Given the description of an element on the screen output the (x, y) to click on. 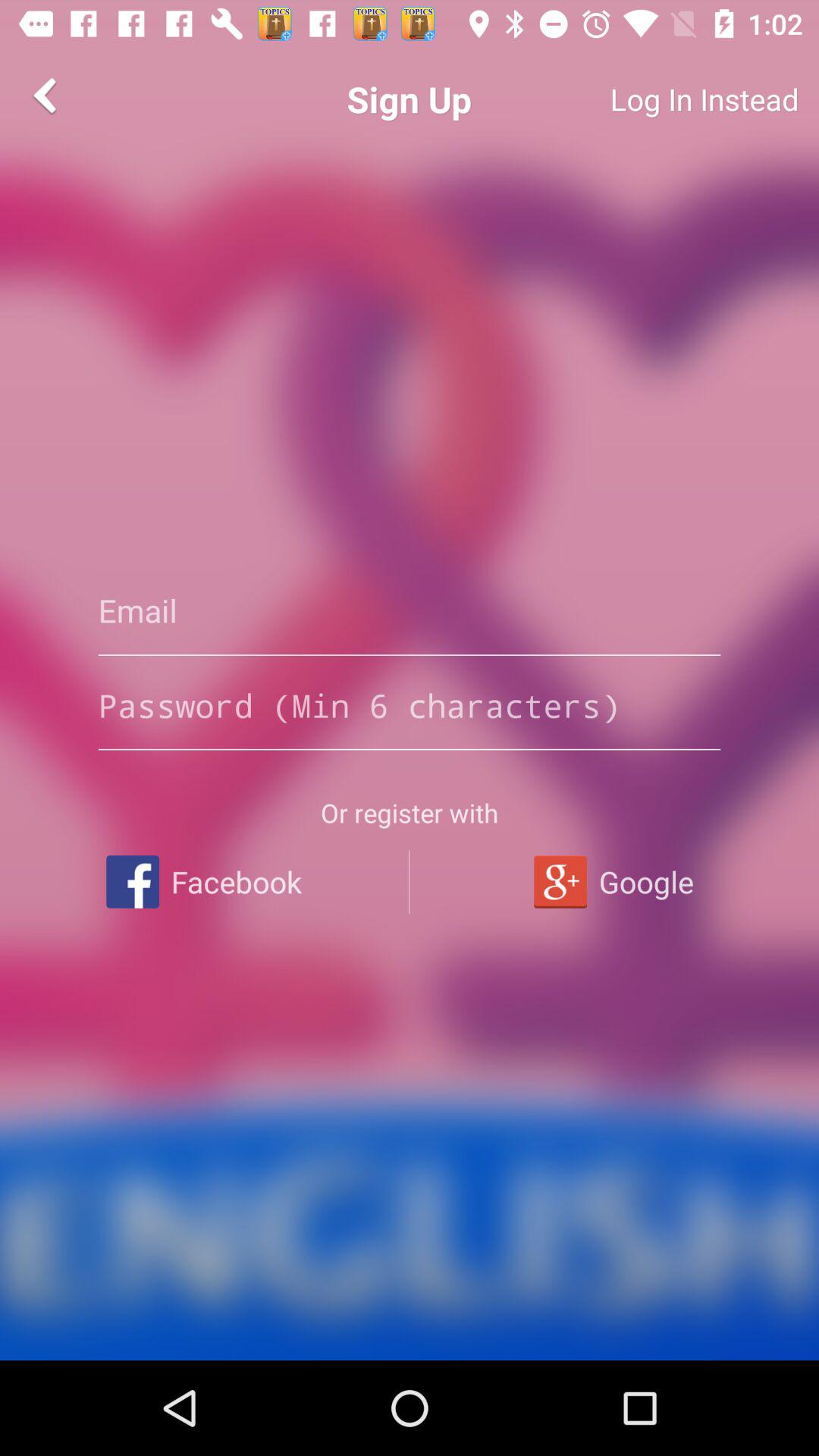
turn on item to the left of the sign up icon (47, 95)
